Given the description of an element on the screen output the (x, y) to click on. 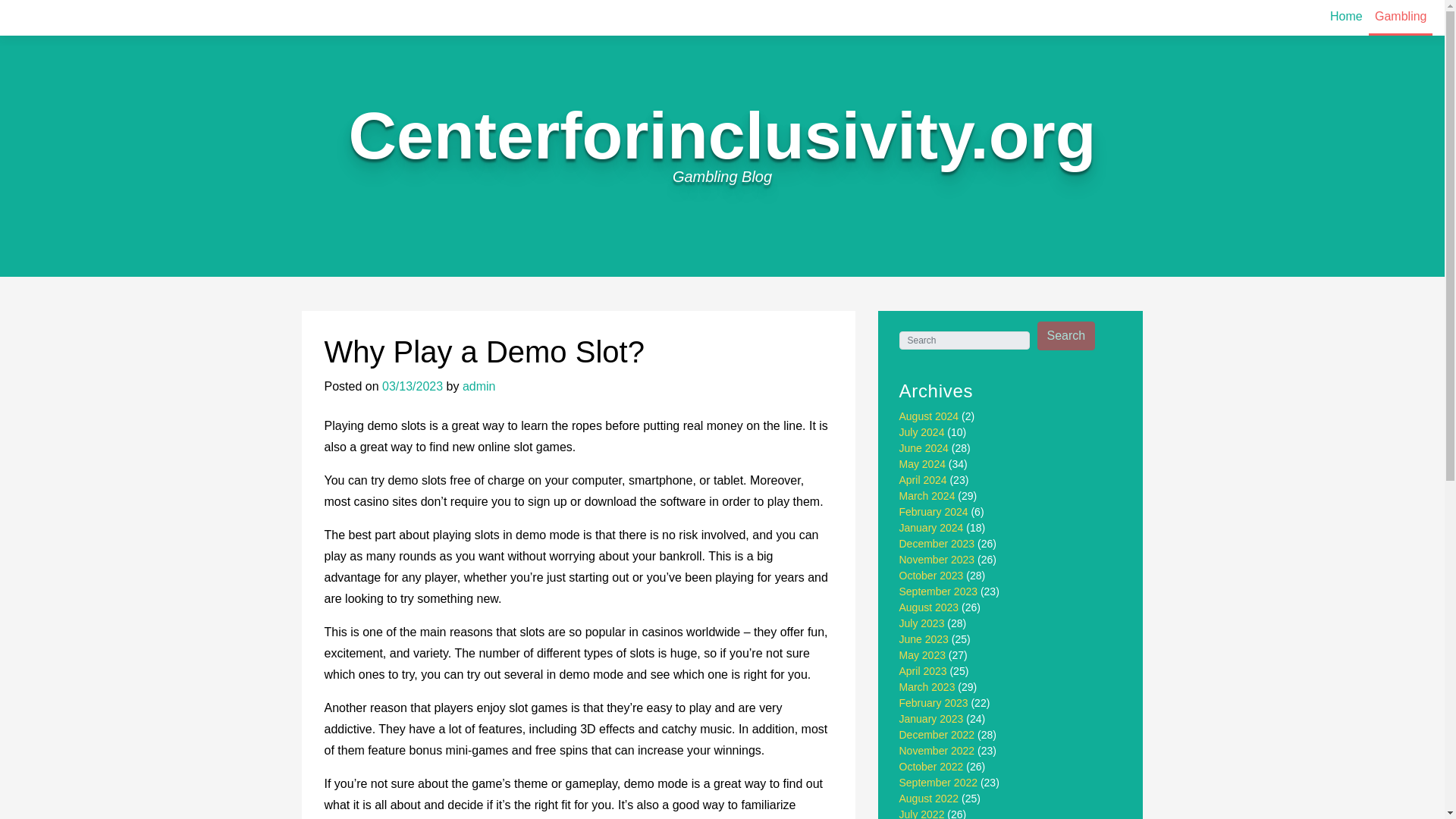
December 2023 (937, 543)
Home (1345, 16)
October 2022 (931, 766)
November 2022 (937, 750)
Home (1345, 16)
August 2022 (929, 798)
Search (1066, 335)
June 2024 (924, 448)
February 2024 (933, 511)
February 2023 (933, 702)
May 2023 (921, 654)
March 2024 (927, 495)
August 2023 (929, 607)
August 2024 (929, 416)
September 2023 (938, 591)
